Given the description of an element on the screen output the (x, y) to click on. 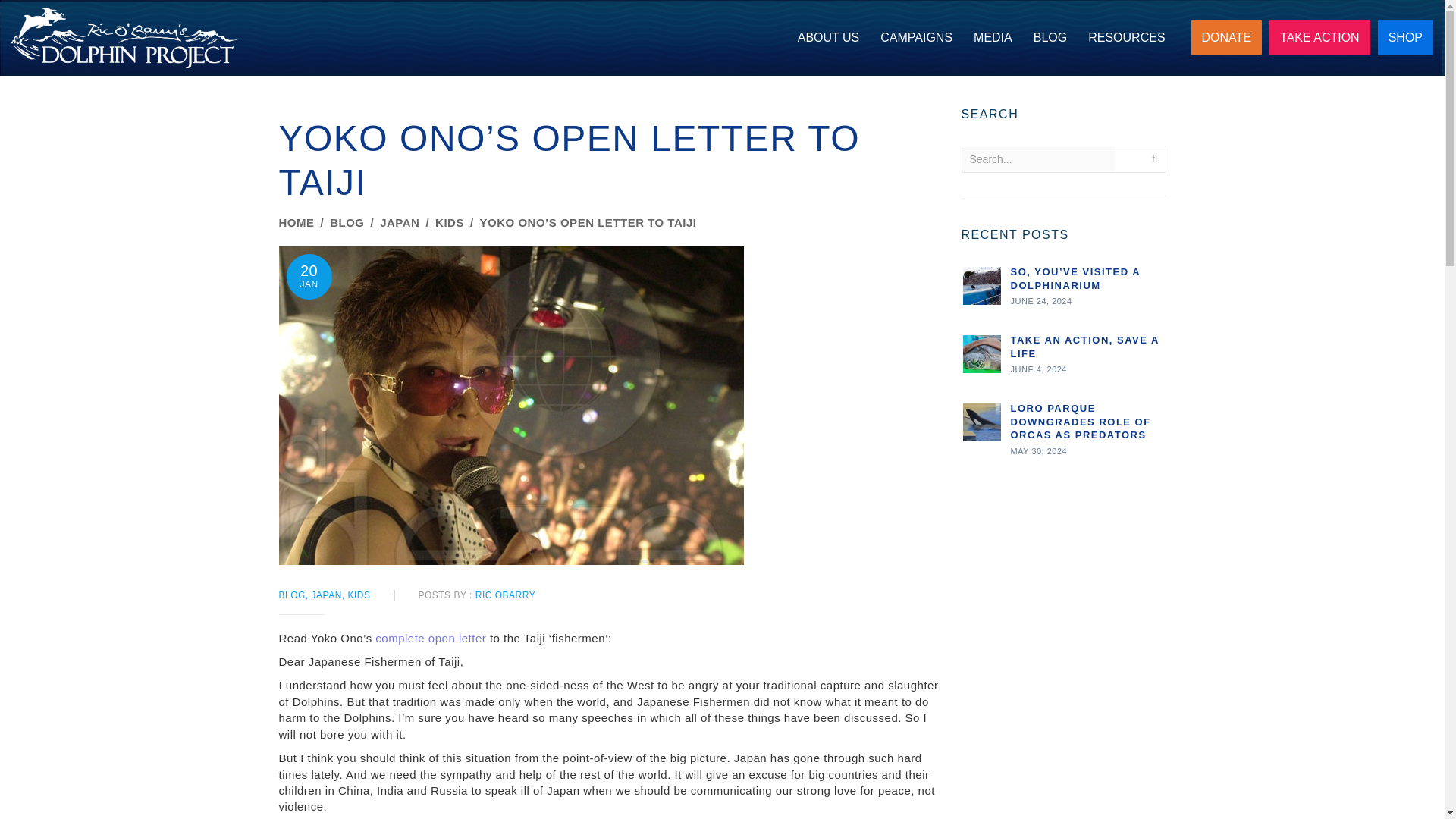
RESOURCES (1125, 38)
Search... (1036, 158)
ABOUT US (828, 38)
TAKE ACTION (1319, 37)
DONATE (1226, 37)
CAMPAIGNS (915, 38)
Dolphin Project (124, 37)
SHOP (1404, 37)
